Given the description of an element on the screen output the (x, y) to click on. 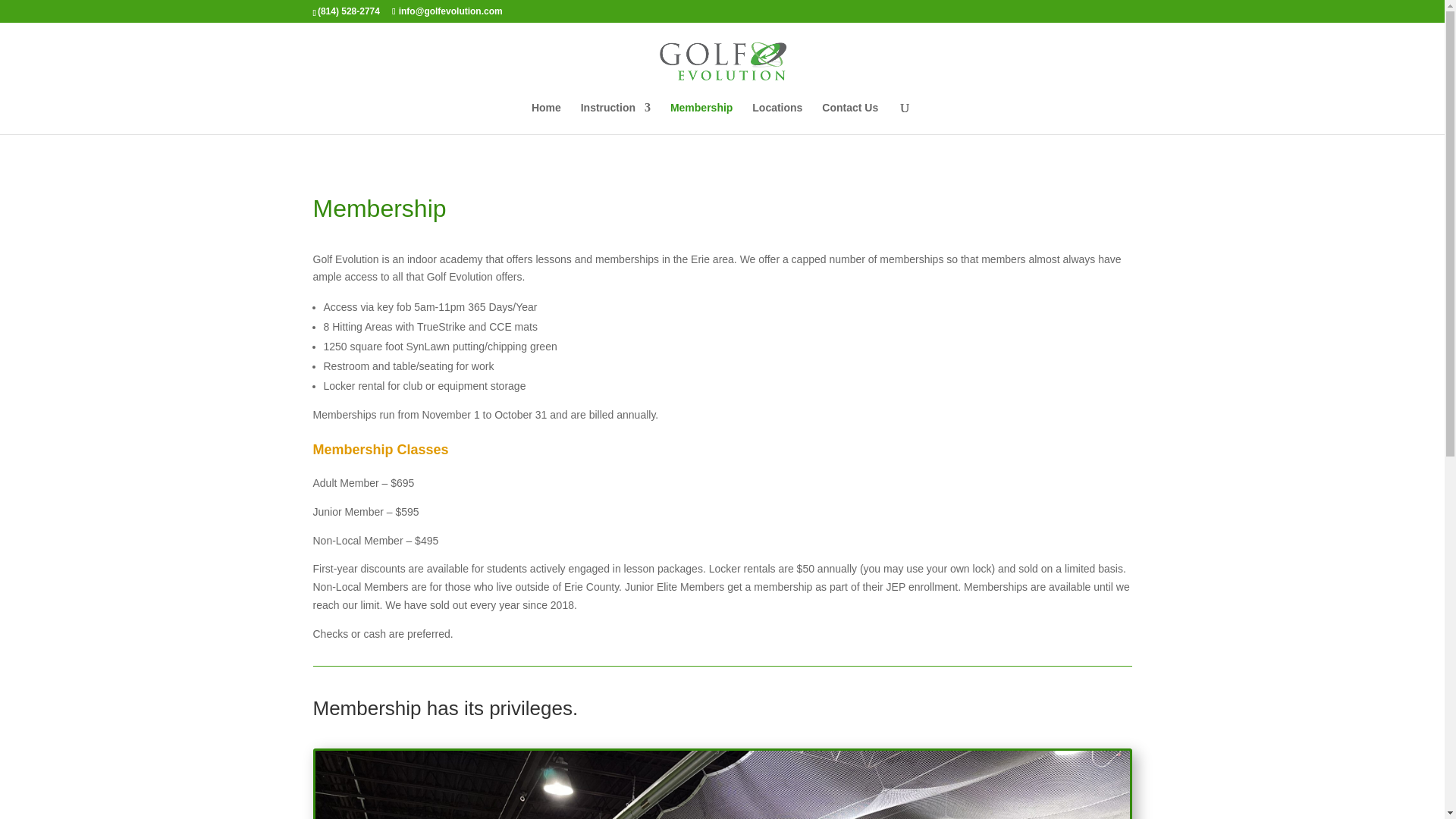
Contact Us (849, 118)
Membership (700, 118)
Home (545, 118)
Instruction (615, 118)
Home (545, 118)
Locations (777, 118)
